Given the description of an element on the screen output the (x, y) to click on. 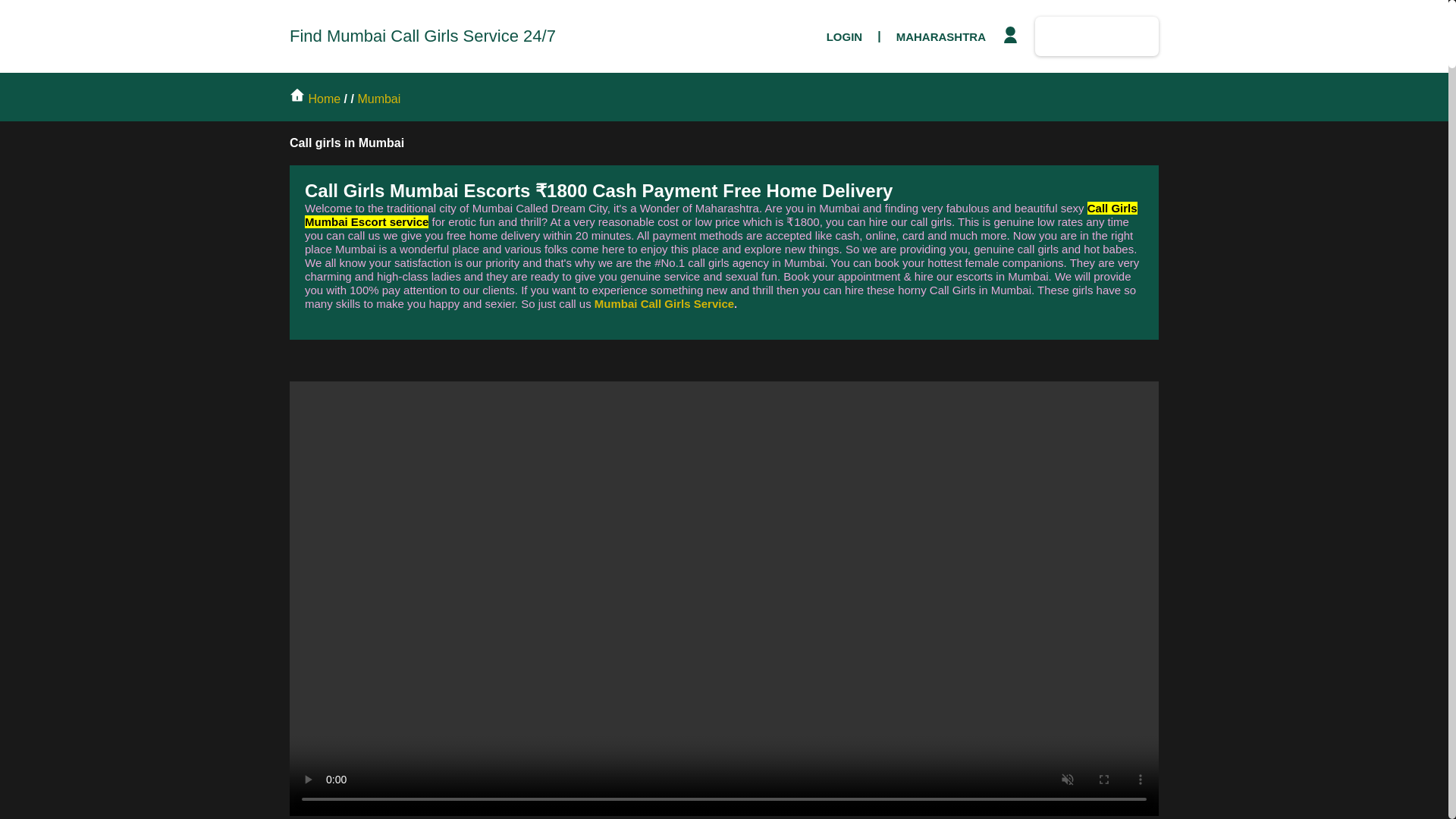
SUBMIT AD (1096, 36)
Home (316, 98)
LOGIN (845, 36)
Mumbai Call Girls Service (663, 303)
Mumbai (378, 98)
MAHARASHTRA (940, 36)
